Given the description of an element on the screen output the (x, y) to click on. 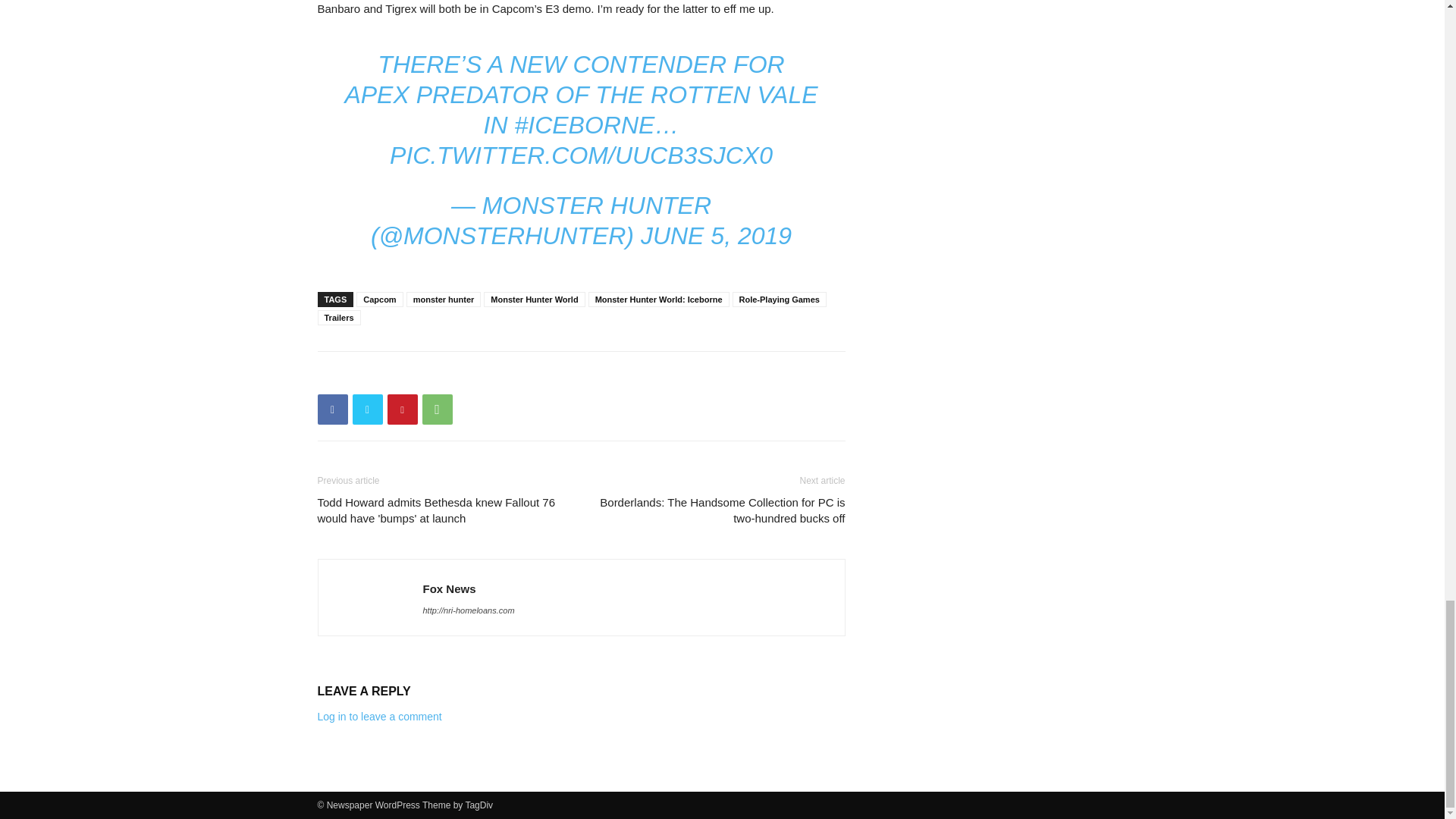
Monster Hunter World: Iceborne (658, 299)
monster hunter (443, 299)
Twitter (366, 409)
WhatsApp (436, 409)
Role-Playing Games (779, 299)
Facebook (332, 409)
Monster Hunter World (534, 299)
JUNE 5, 2019 (716, 235)
Trailers (338, 317)
Capcom (379, 299)
bottomFacebookLike (430, 375)
Pinterest (401, 409)
